Given the description of an element on the screen output the (x, y) to click on. 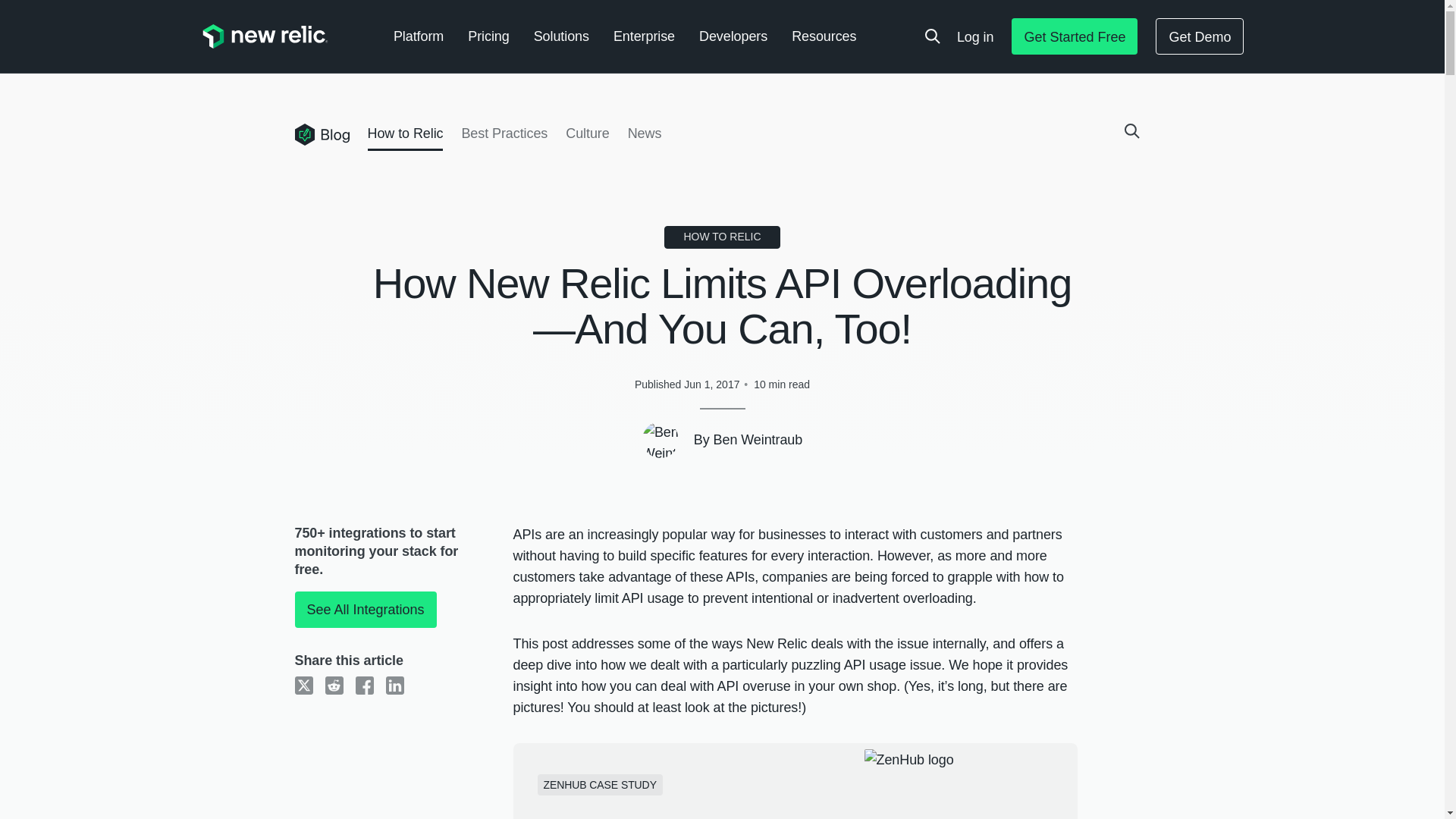
New Relic Logo (264, 36)
Platform (418, 36)
Pricing (488, 36)
